Given the description of an element on the screen output the (x, y) to click on. 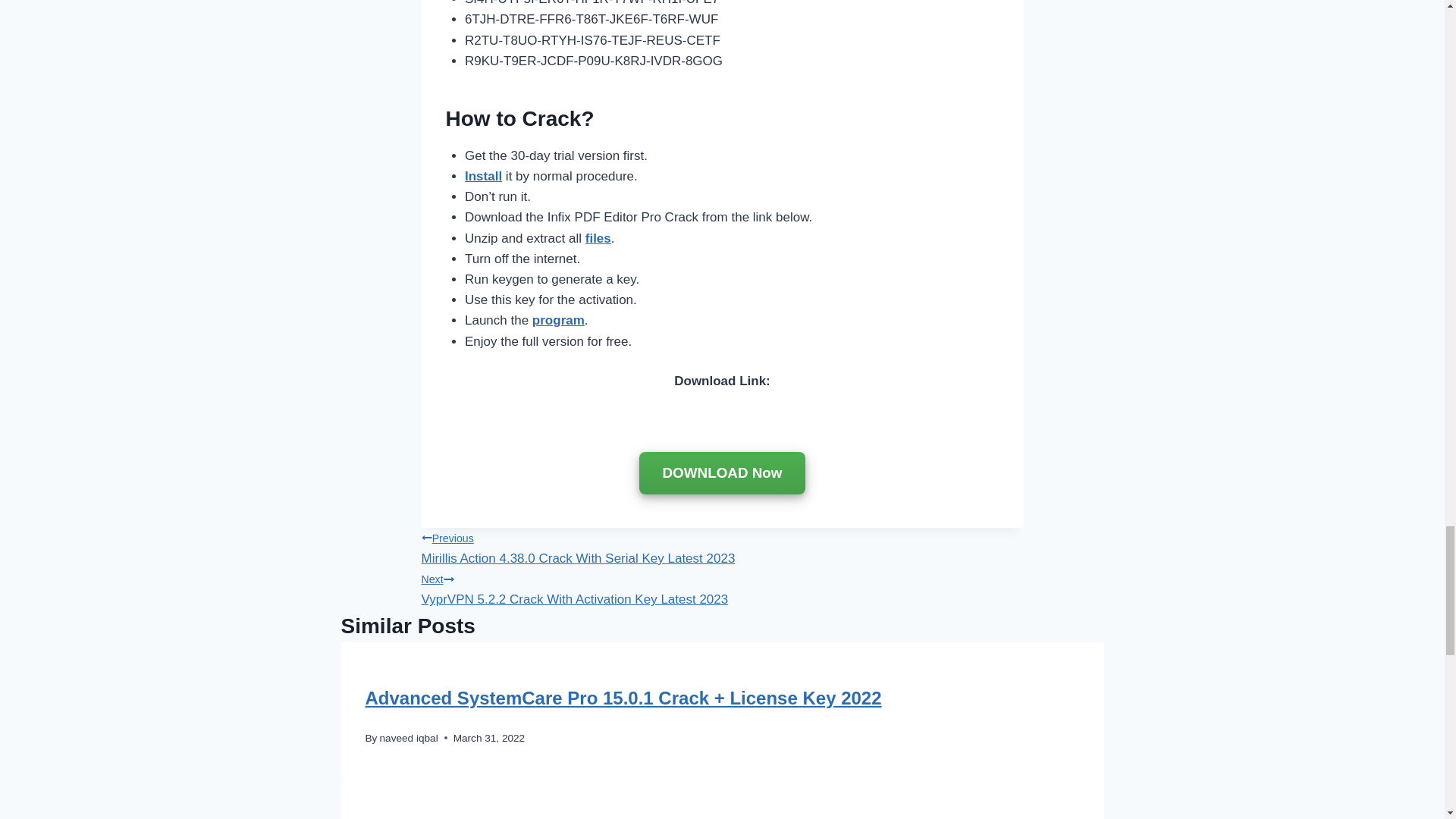
Install (483, 175)
files (598, 237)
DOWNLOAD Now (722, 587)
naveed iqbal (721, 473)
program (409, 737)
DOWNLOAD Now (558, 319)
